Given the description of an element on the screen output the (x, y) to click on. 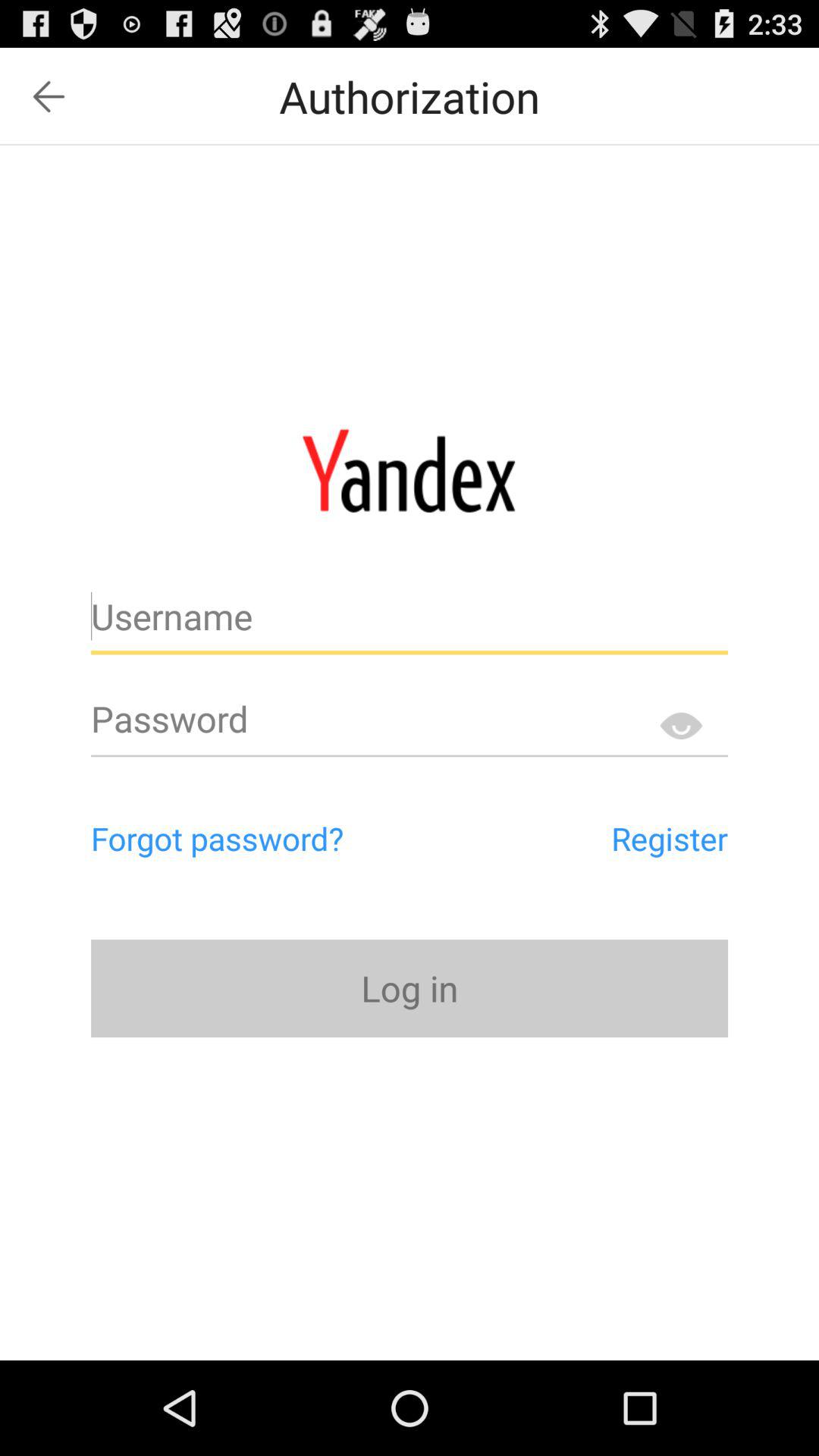
tap item below forgot password? item (409, 988)
